Given the description of an element on the screen output the (x, y) to click on. 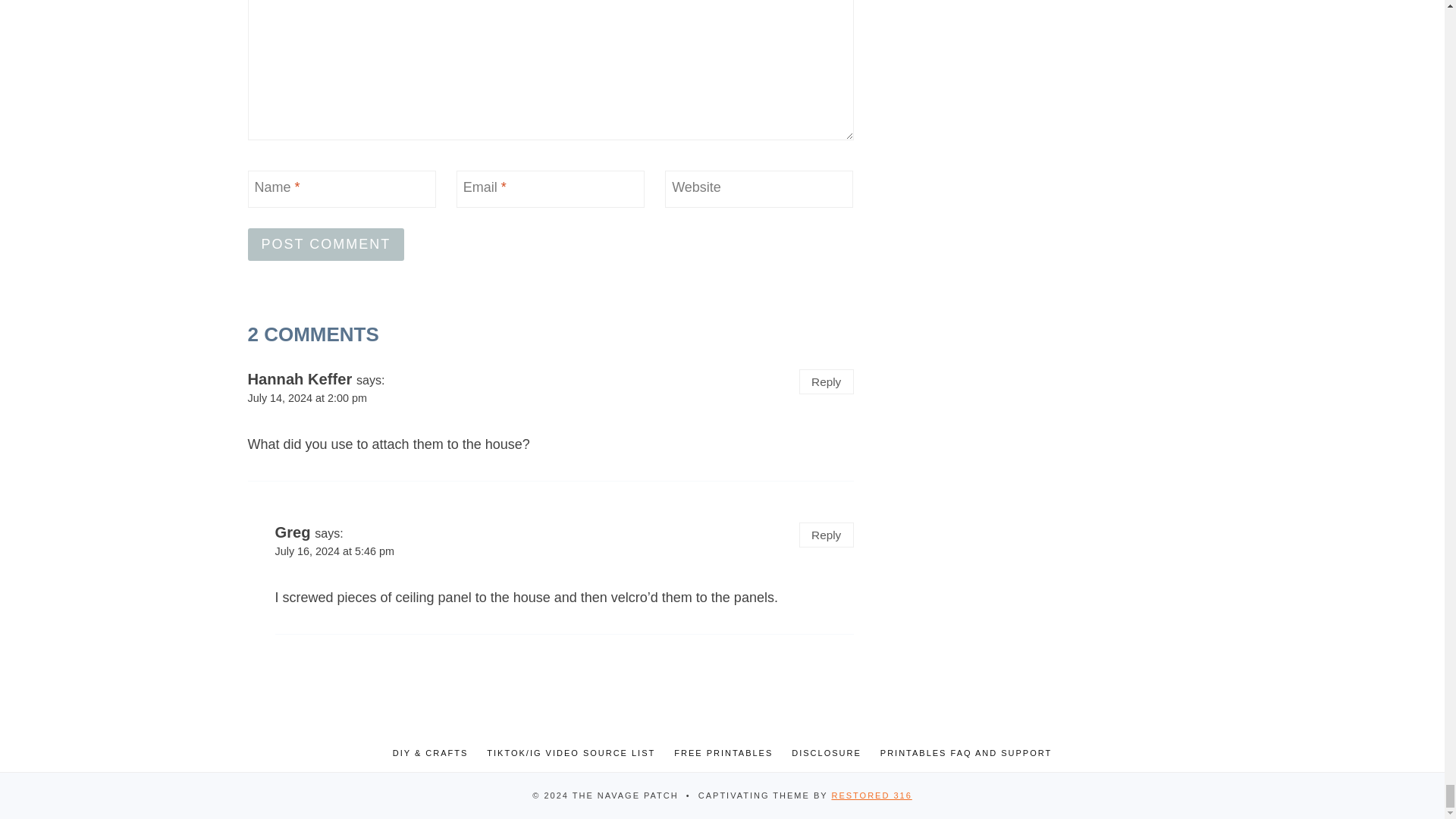
Post Comment (325, 243)
